Given the description of an element on the screen output the (x, y) to click on. 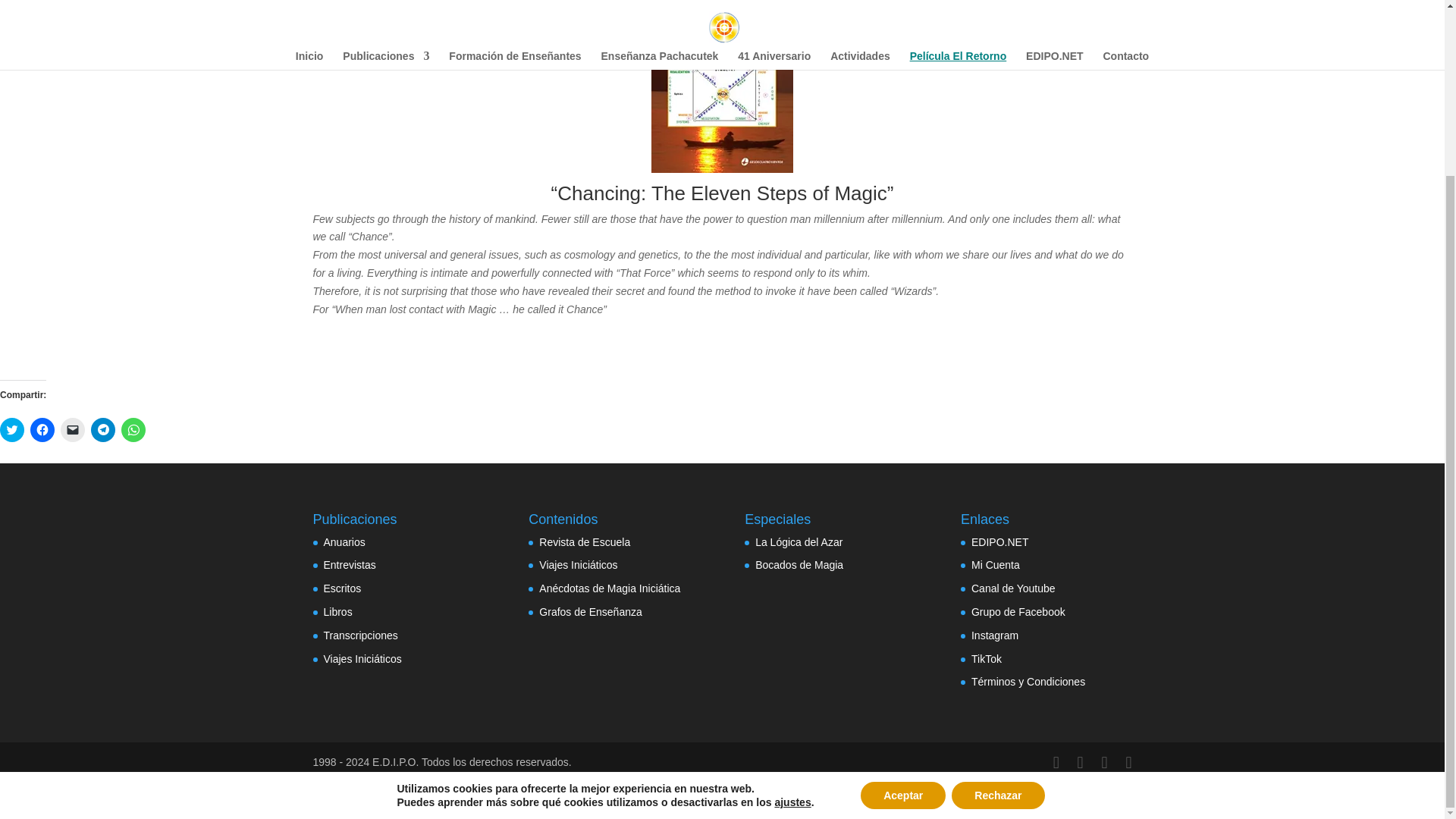
Haz clic para compartir en Telegram (102, 429)
Haz clic para compartir en Twitter (12, 429)
Haz clic para compartir en Facebook (42, 429)
Haz clic para compartir en WhatsApp (132, 429)
